Given the description of an element on the screen output the (x, y) to click on. 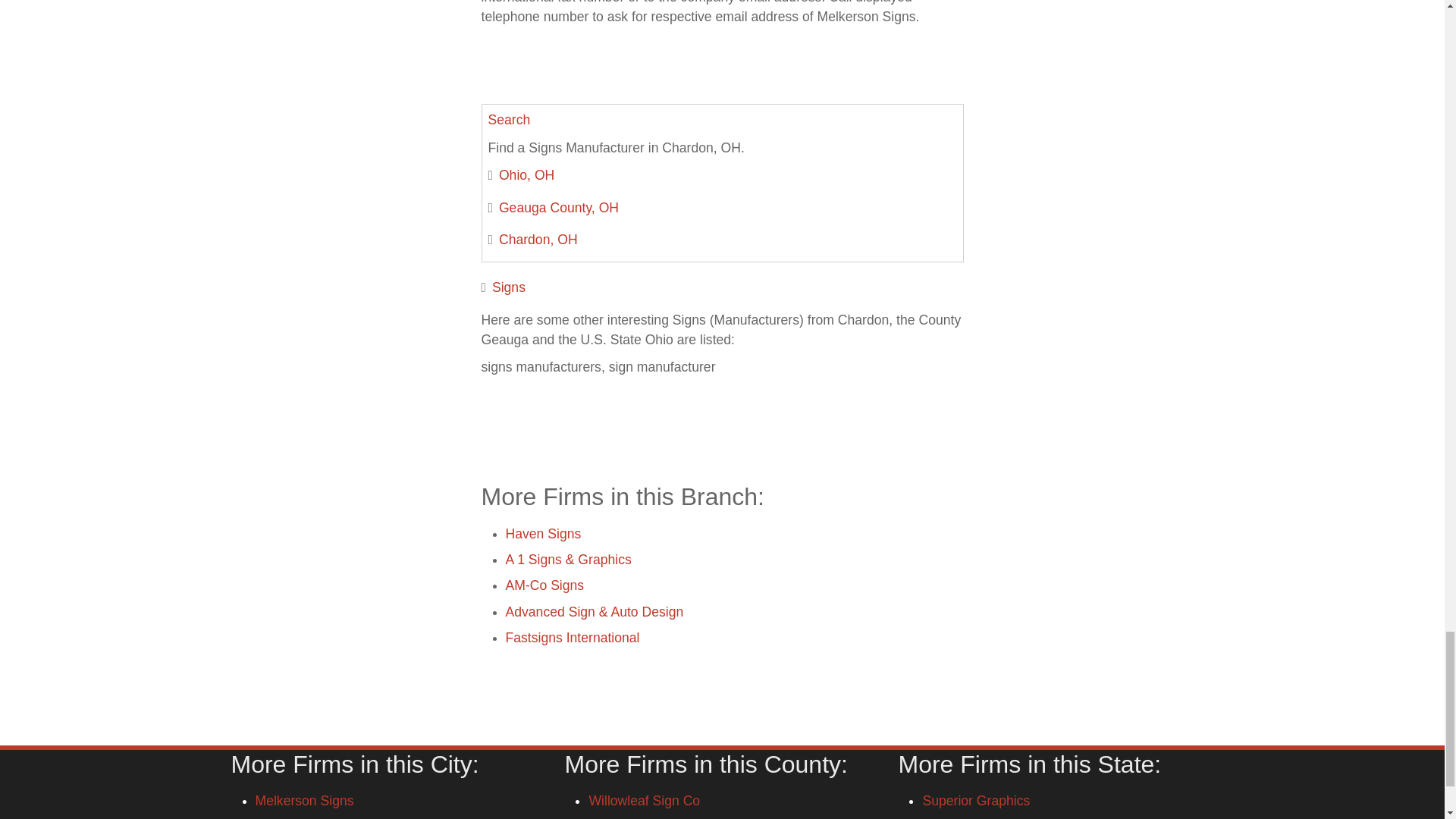
Haven Signs (542, 533)
Search (509, 119)
Geauga County, OH (558, 207)
Fastsigns International (572, 637)
Signs (508, 287)
AM-Co Signs (544, 585)
Ohio, OH (526, 174)
Chardon, OH (538, 239)
